Given the description of an element on the screen output the (x, y) to click on. 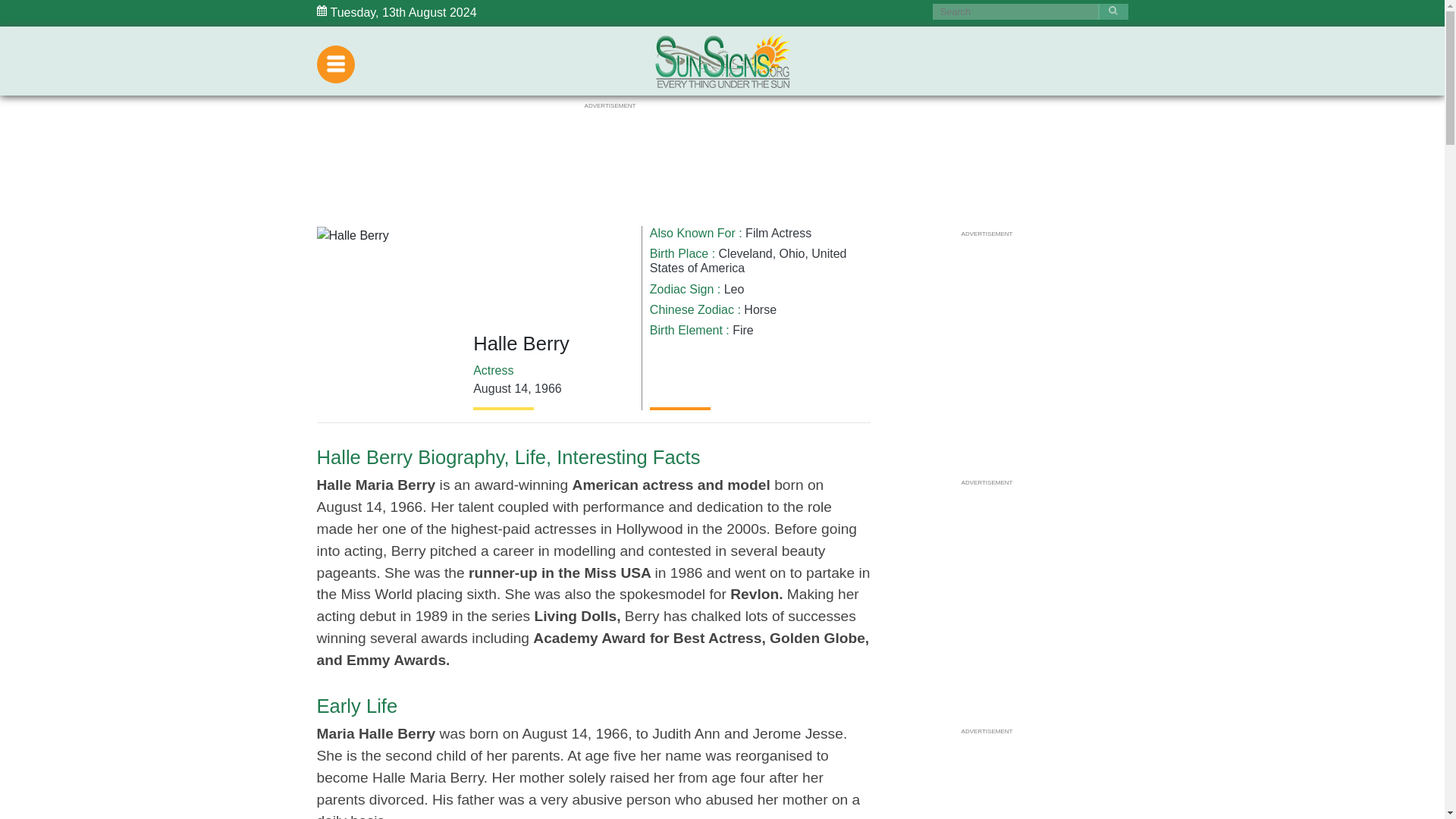
Ohio (791, 253)
Cleveland (746, 253)
Film Actress (777, 232)
1966 (548, 388)
August 14 (500, 388)
United States of America (748, 260)
Actress (493, 369)
Chinese Zodiac (691, 309)
Horse (760, 309)
Zodiac Sign (681, 288)
